Given the description of an element on the screen output the (x, y) to click on. 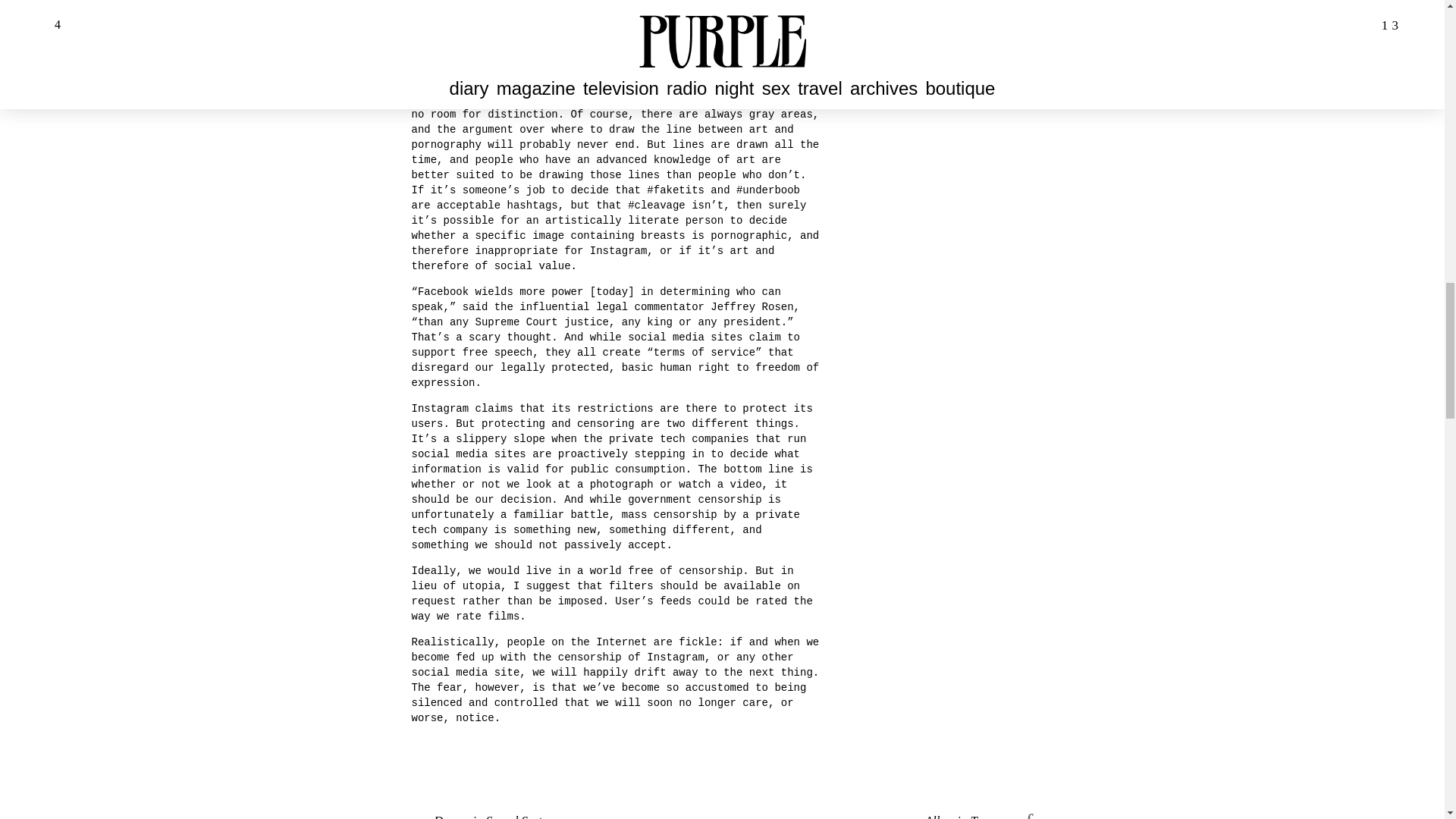
Despacio Sound System (566, 815)
Allegria Torassa (877, 815)
